Given the description of an element on the screen output the (x, y) to click on. 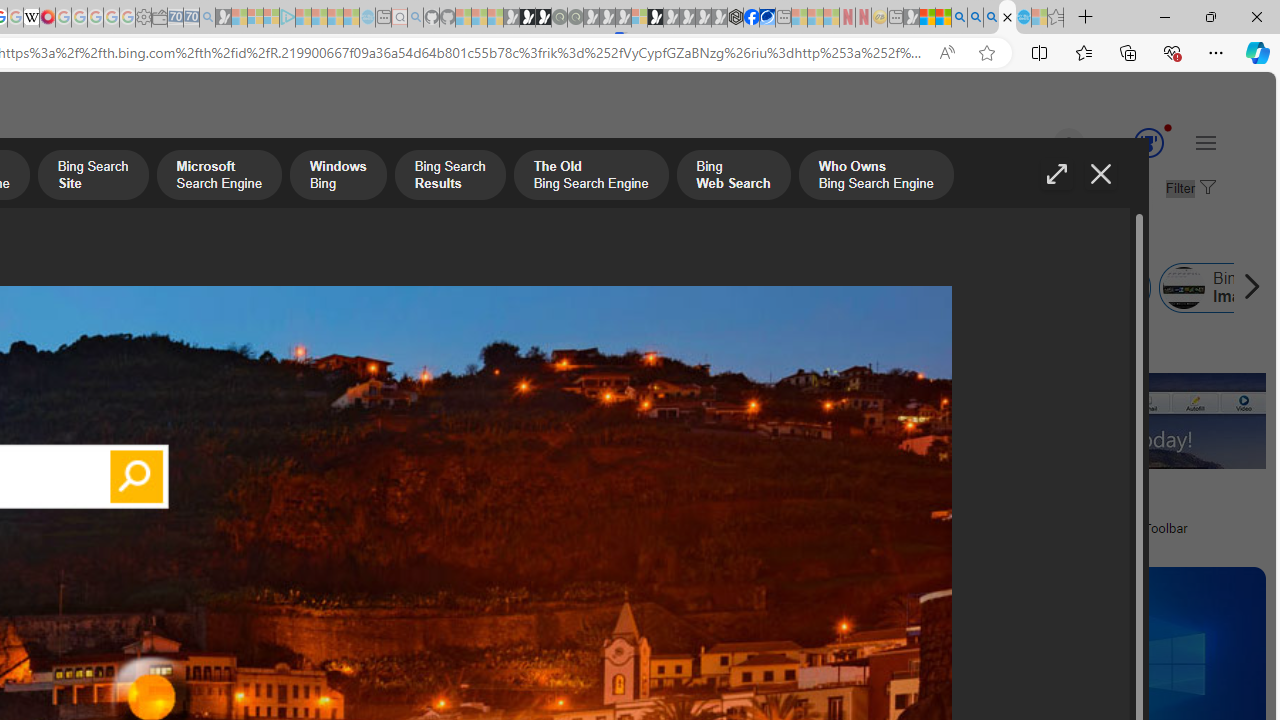
Who Owns Bing Search Engine (875, 177)
Settings - Sleeping (143, 17)
Image result for Bing Search Bar Install (1104, 420)
Microsoft Rewards 84 (1130, 143)
Install Bing Home (727, 287)
2009 Bing officially replaced Live Search on June 3 - Search (975, 17)
Future Focus Report 2024 - Sleeping (575, 17)
AutomationID: serp_medal_svg (1148, 142)
